Given the description of an element on the screen output the (x, y) to click on. 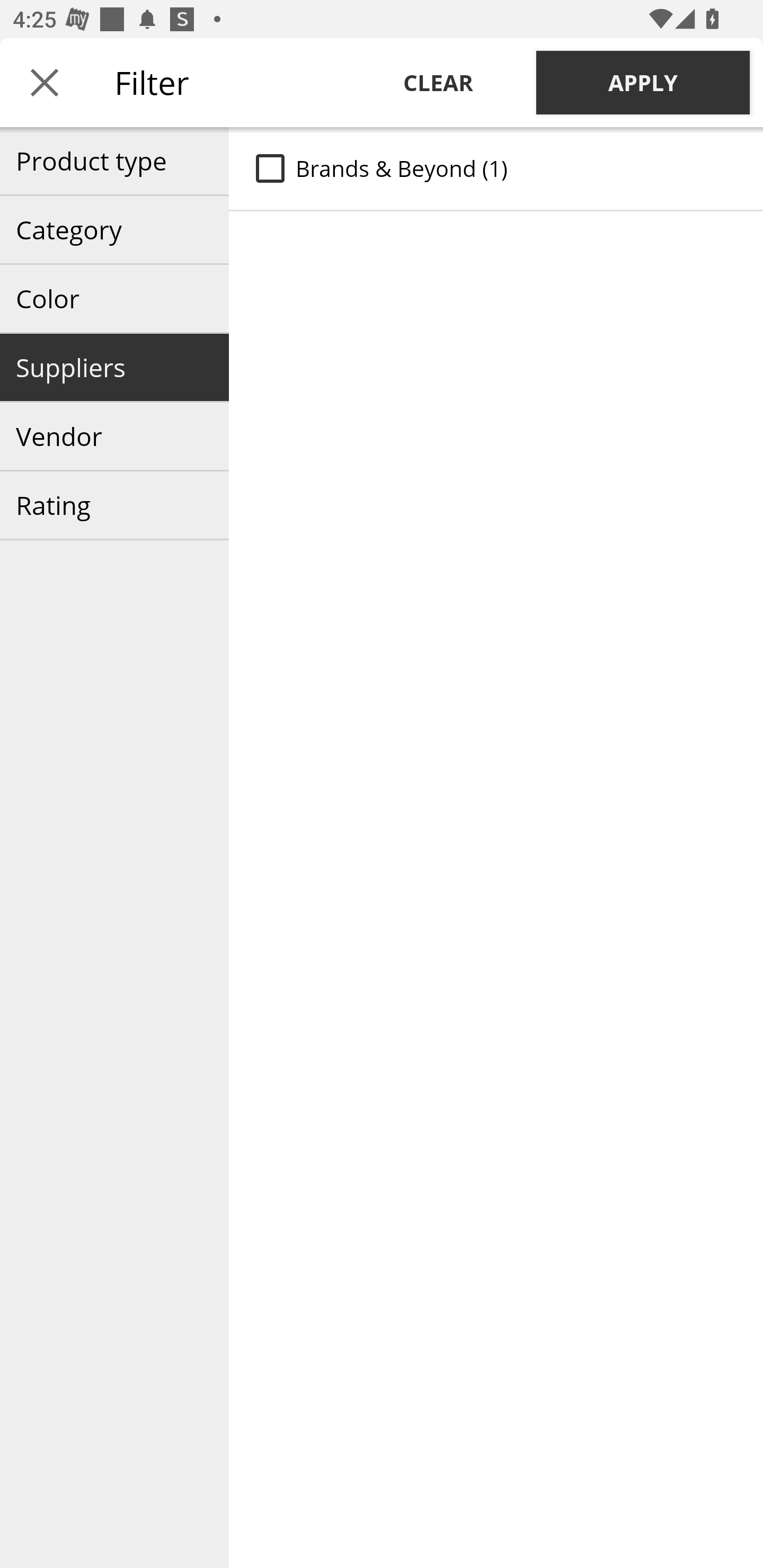
Navigate up (44, 82)
CLEAR (437, 82)
APPLY (643, 82)
Product type (114, 160)
Brands & Beyond (1) (495, 168)
Category (114, 229)
Color (114, 298)
Suppliers (114, 367)
Vendor (114, 436)
Rating (114, 505)
